Given the description of an element on the screen output the (x, y) to click on. 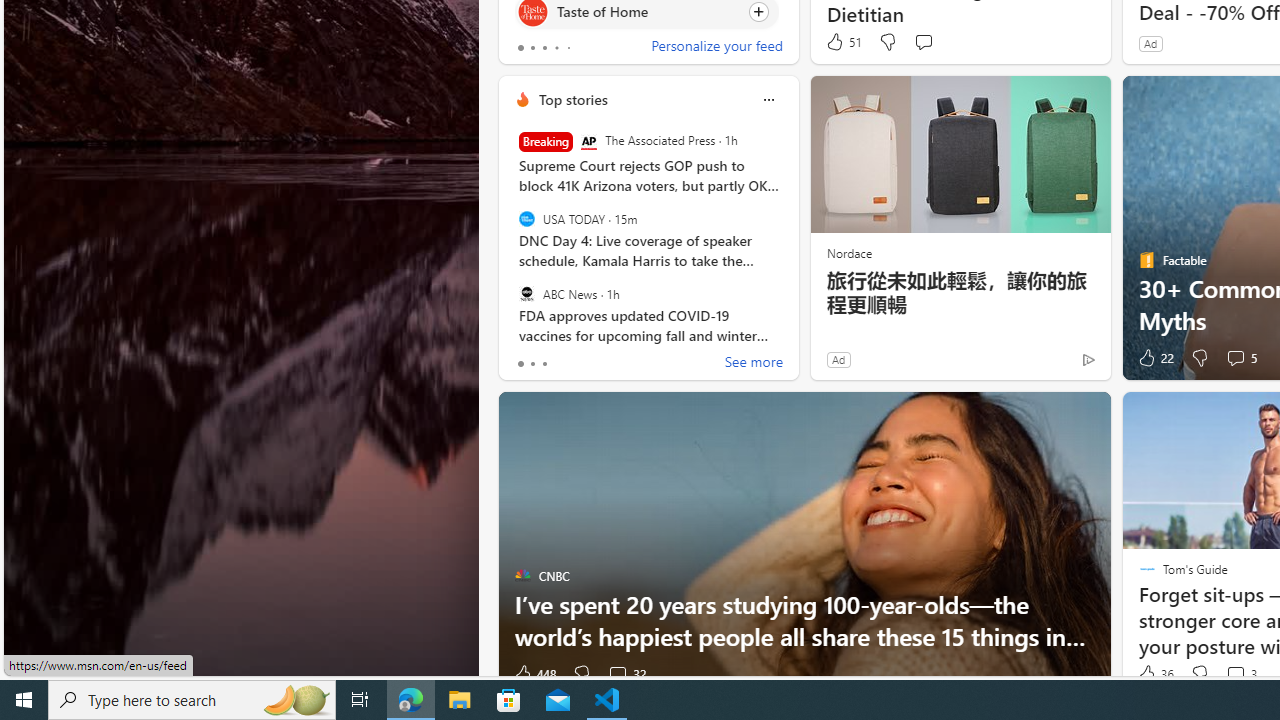
View comments 3 Comment (1234, 673)
51 Like (843, 42)
tab-0 (520, 363)
